Given the description of an element on the screen output the (x, y) to click on. 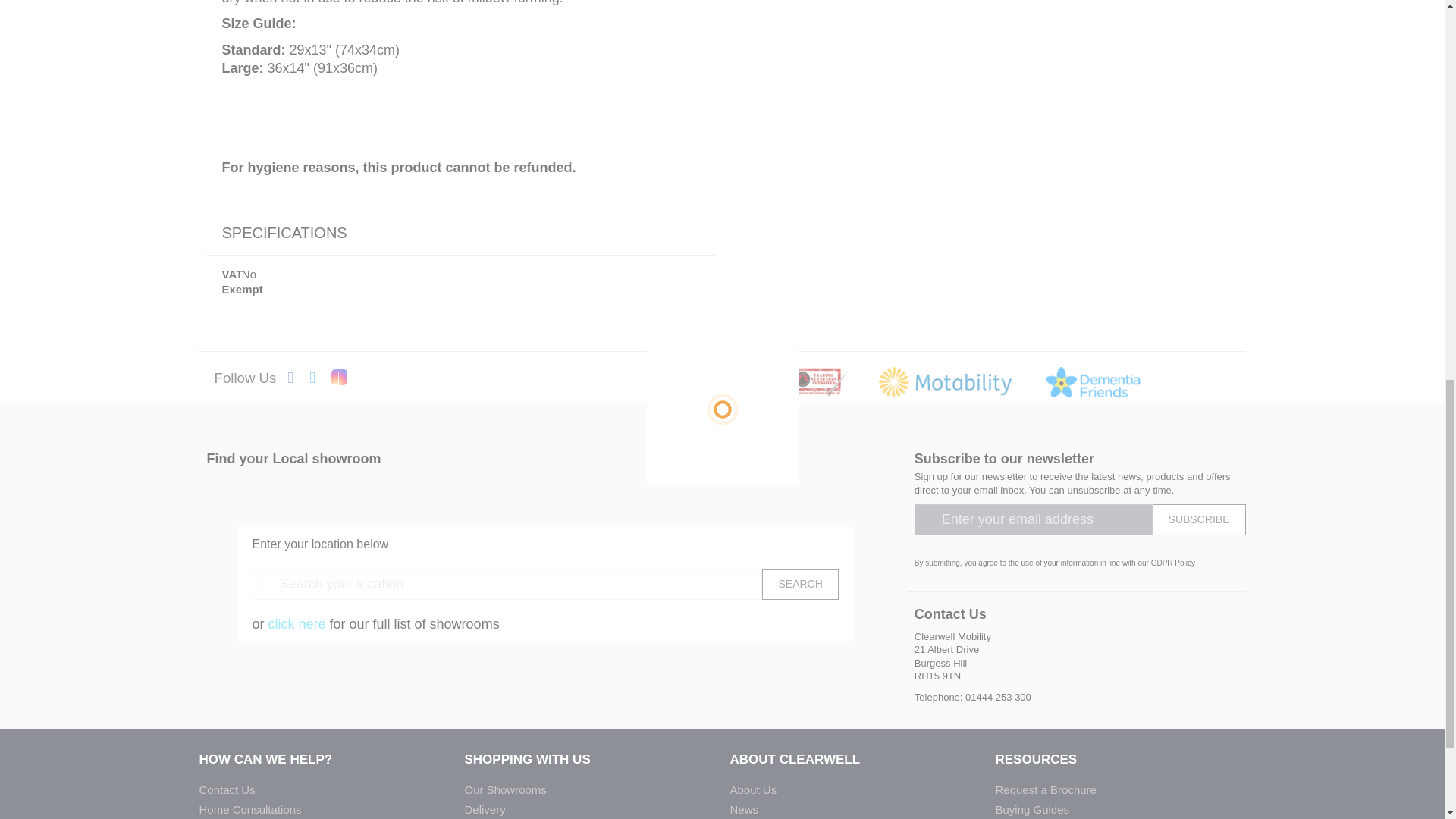
Subscribe (1199, 519)
GlobalSign Site Seal (1195, 385)
Search (799, 583)
